Given the description of an element on the screen output the (x, y) to click on. 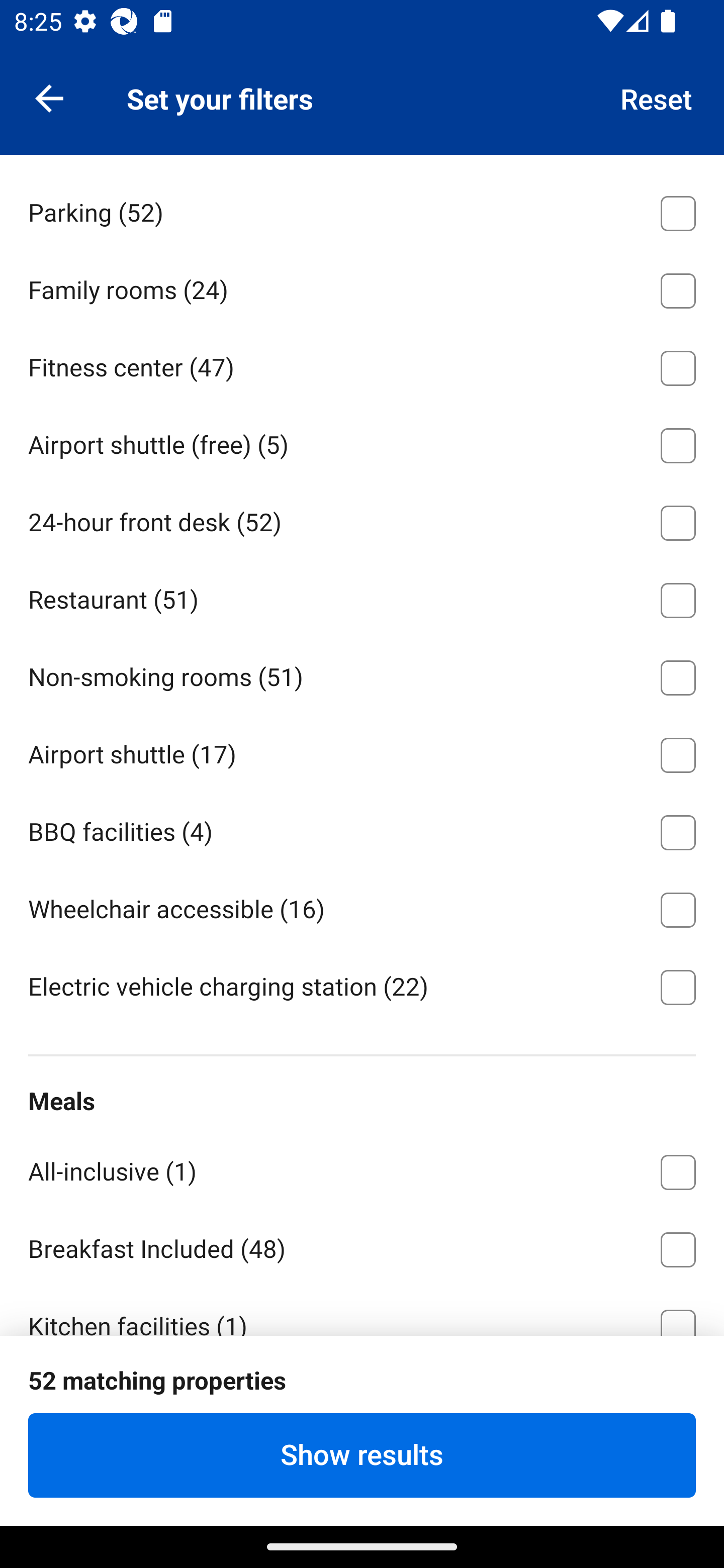
Navigate up (49, 97)
Reset (656, 97)
Parking ⁦(52) (361, 209)
Family rooms ⁦(24) (361, 287)
Fitness center ⁦(47) (361, 364)
Airport shuttle (free) ⁦(5) (361, 441)
24-hour front desk ⁦(52) (361, 519)
Restaurant ⁦(51) (361, 596)
Non-smoking rooms ⁦(51) (361, 674)
Airport shuttle ⁦(17) (361, 751)
BBQ facilities ⁦(4) (361, 829)
Wheelchair accessible ⁦(16) (361, 906)
Electric vehicle charging station ⁦(22) (361, 985)
All-inclusive ⁦(1) (361, 1168)
Breakfast Included ⁦(48) (361, 1246)
Kitchen facilities ⁦(1) (361, 1310)
Show results (361, 1454)
